Given the description of an element on the screen output the (x, y) to click on. 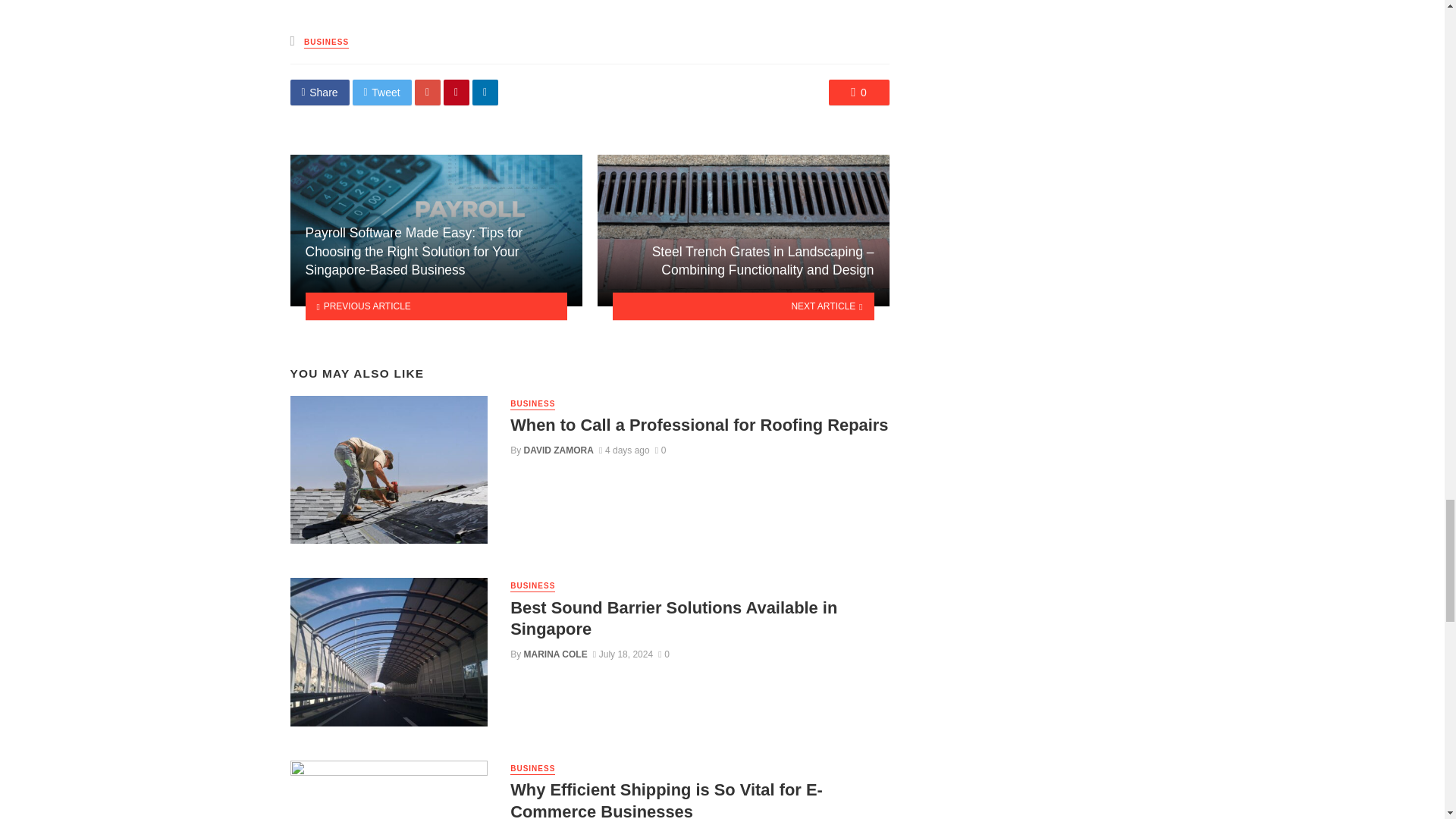
Share (319, 92)
0 (660, 450)
Tweet (382, 92)
PREVIOUS ARTICLE (434, 305)
When to Call a Professional for Roofing Repairs (699, 424)
BUSINESS (326, 42)
NEXT ARTICLE (742, 305)
DAVID ZAMORA (559, 450)
BUSINESS (532, 586)
0 (858, 92)
BUSINESS (532, 404)
